Given the description of an element on the screen output the (x, y) to click on. 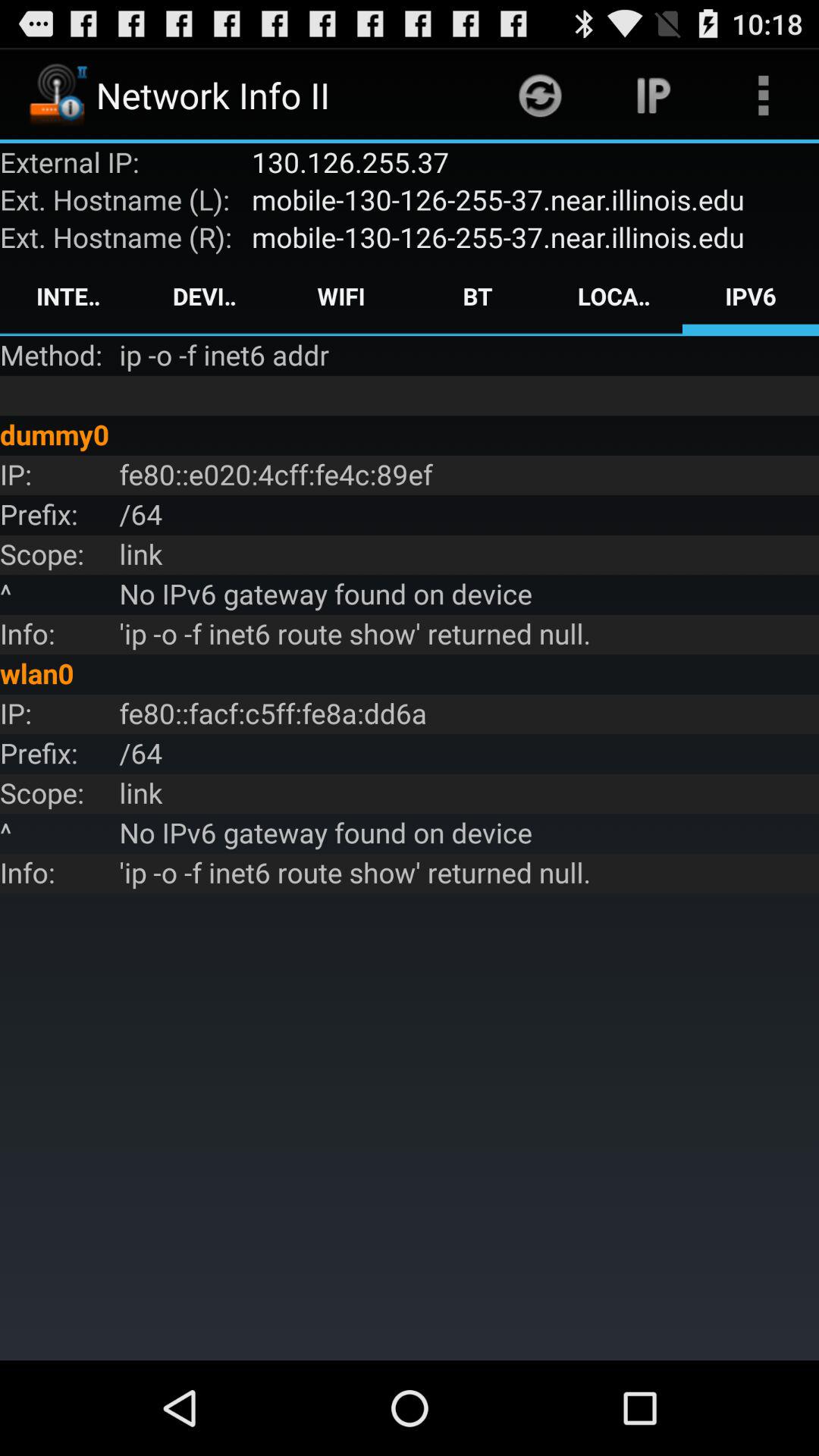
launch the item to the left of the location item (477, 295)
